Given the description of an element on the screen output the (x, y) to click on. 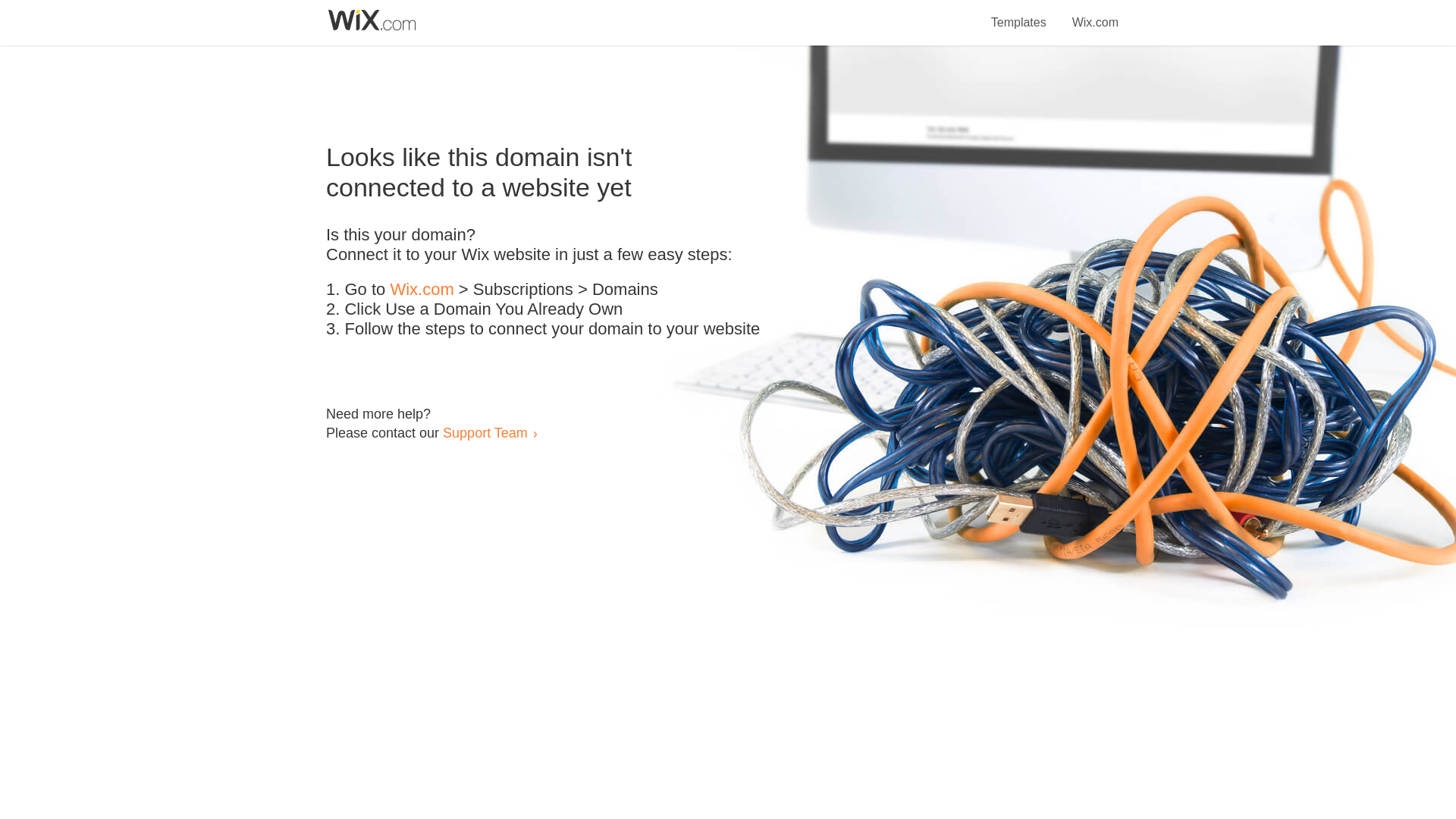
Wix.com (1095, 14)
Support Team (484, 432)
Templates (1018, 14)
Wix.com (421, 289)
